Given the description of an element on the screen output the (x, y) to click on. 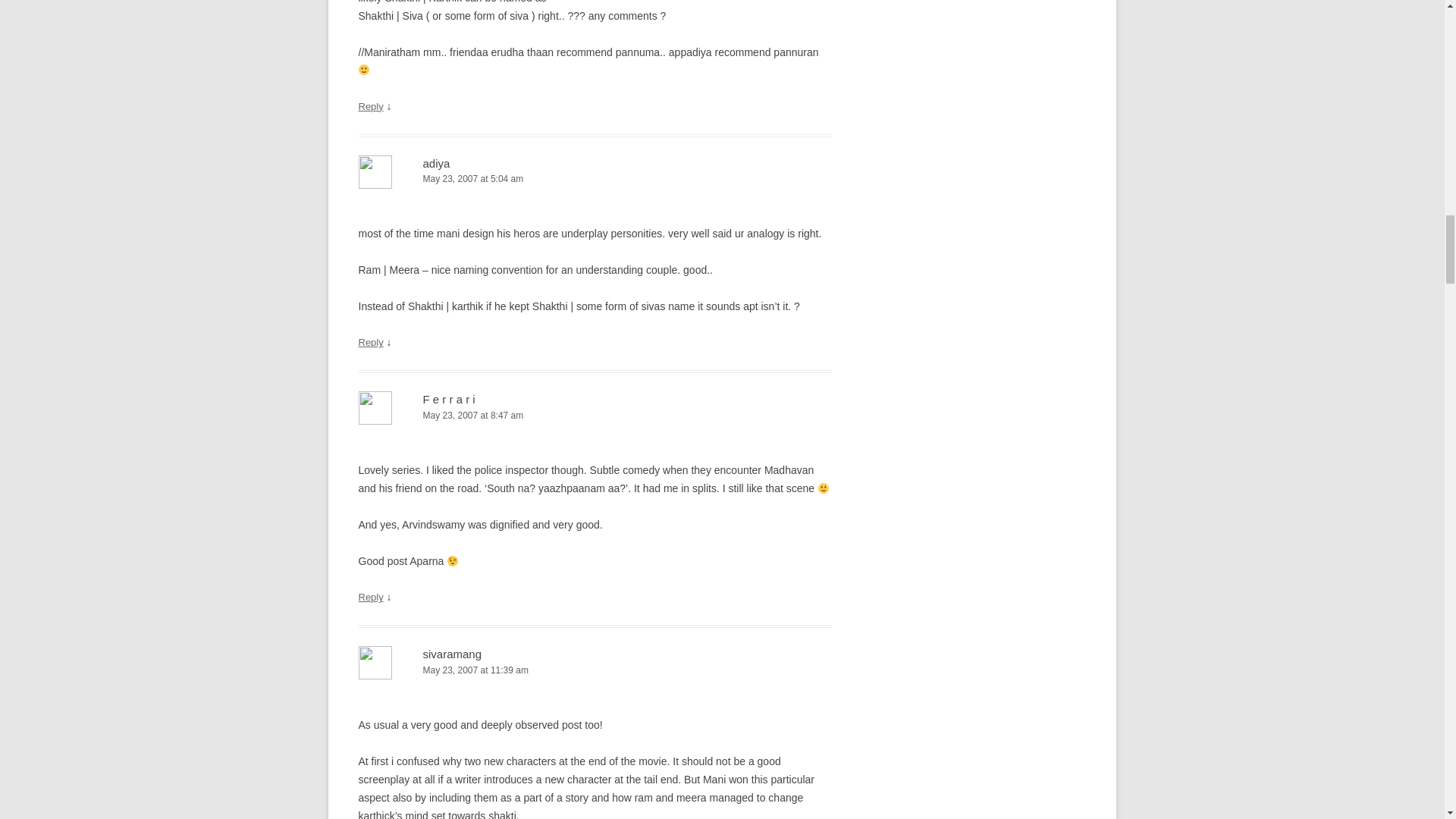
Reply (370, 596)
F e r r a r i (449, 399)
May 23, 2007 at 5:04 am (594, 179)
Reply (370, 342)
adiya (436, 162)
Reply (370, 106)
sivaramang (452, 653)
May 23, 2007 at 8:47 am (594, 415)
